Given the description of an element on the screen output the (x, y) to click on. 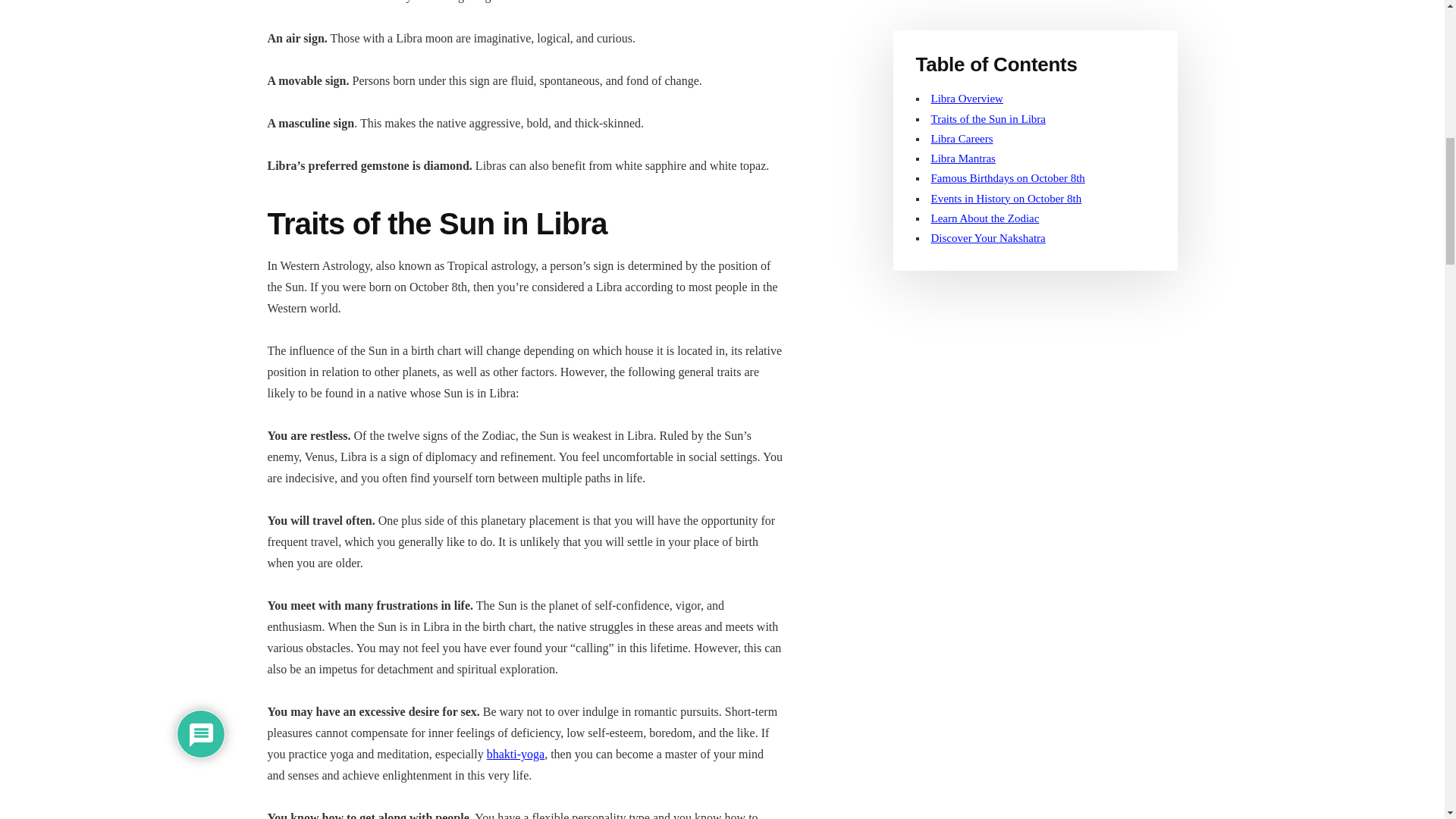
bhakti-yoga (515, 753)
